Given the description of an element on the screen output the (x, y) to click on. 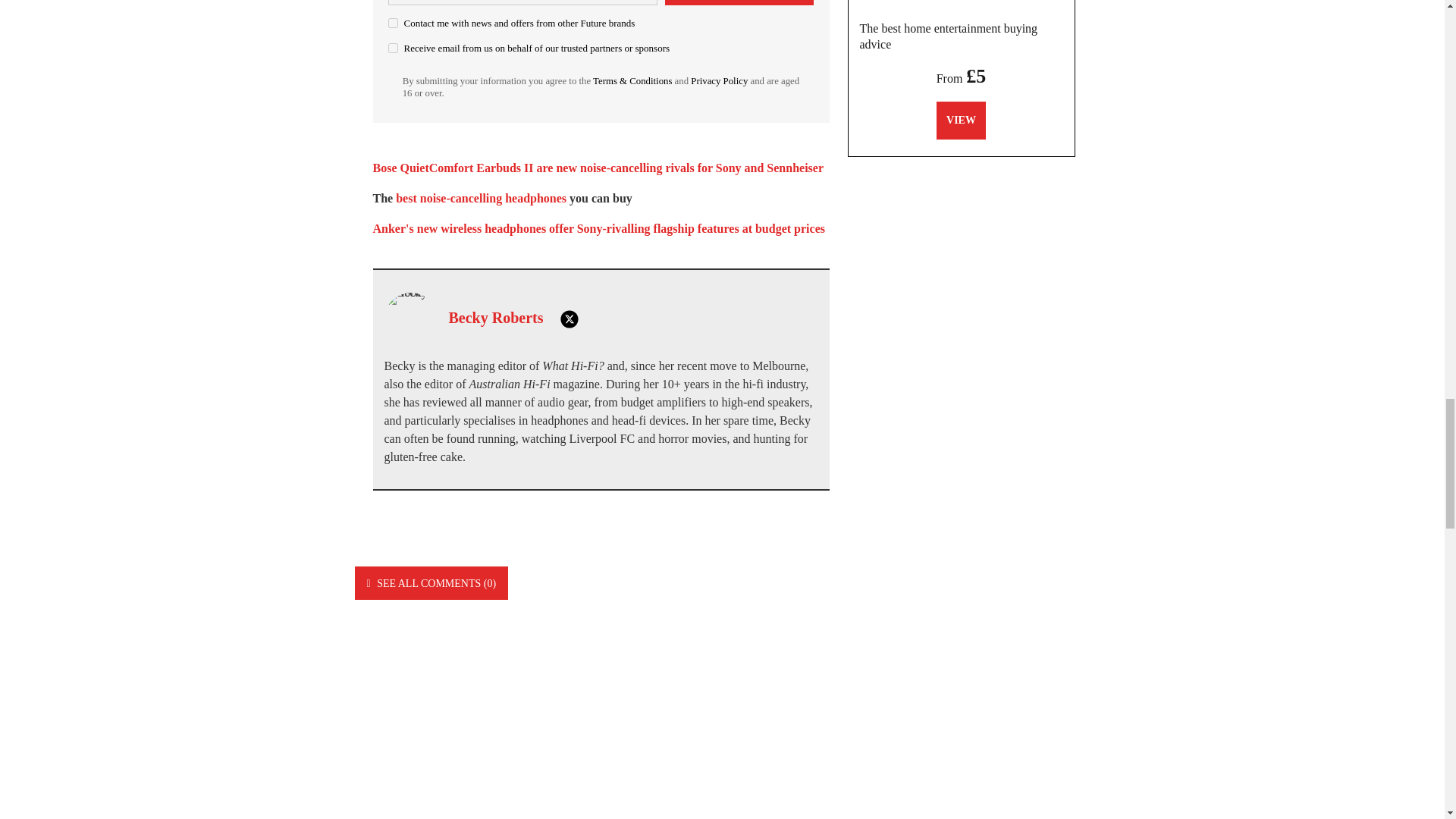
What Hi-Fi Magazine... (960, 4)
on (392, 22)
on (392, 48)
Sign me up (739, 2)
